Given the description of an element on the screen output the (x, y) to click on. 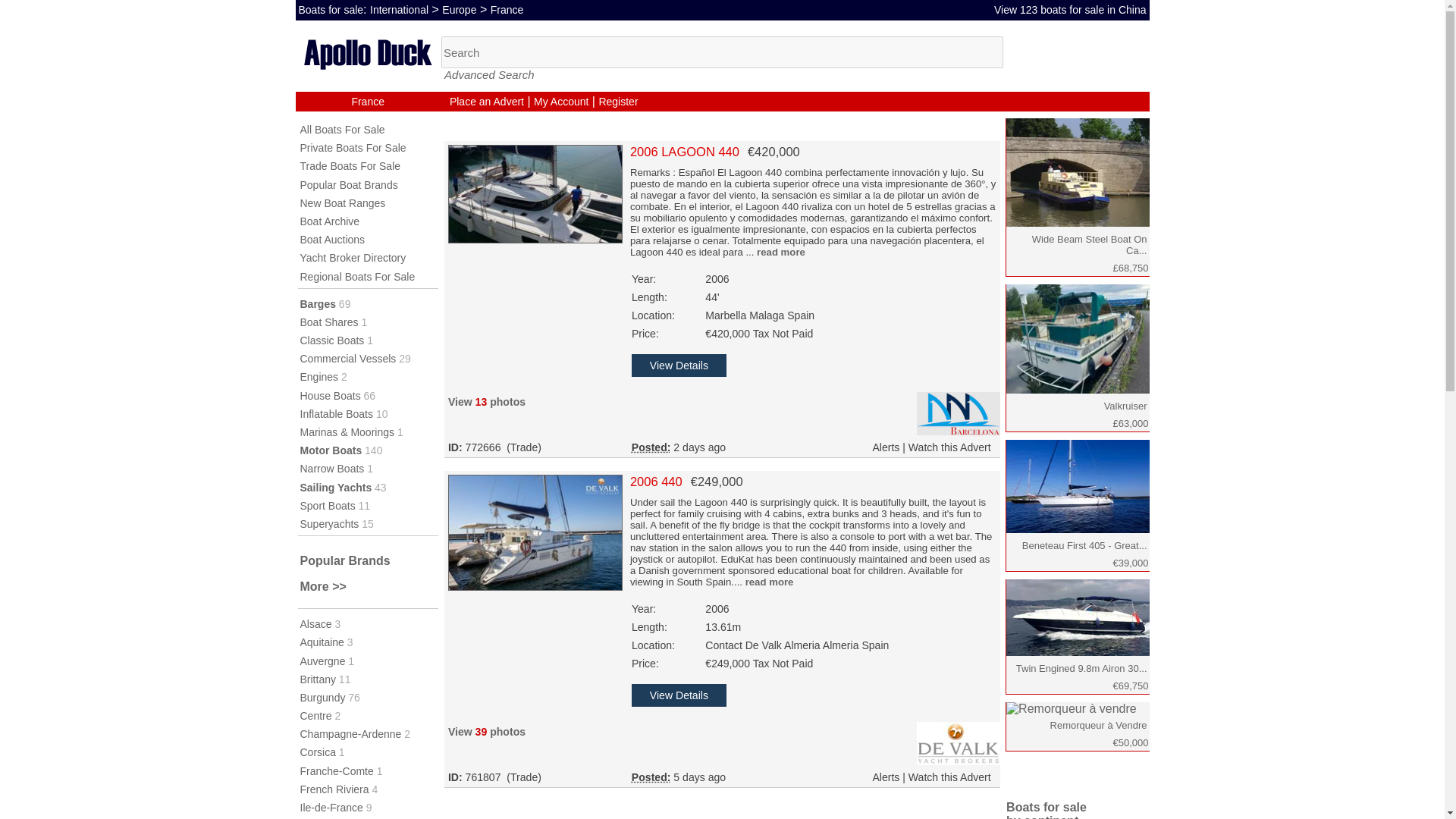
Aquitaine (321, 642)
Alsace (315, 623)
France (507, 9)
Popular Boat Brands (348, 184)
Engines (319, 377)
Trade Boats For Sale (350, 165)
France (367, 101)
Boat Auctions (332, 239)
View 123 boats for sale in China (1070, 9)
International (398, 9)
